Given the description of an element on the screen output the (x, y) to click on. 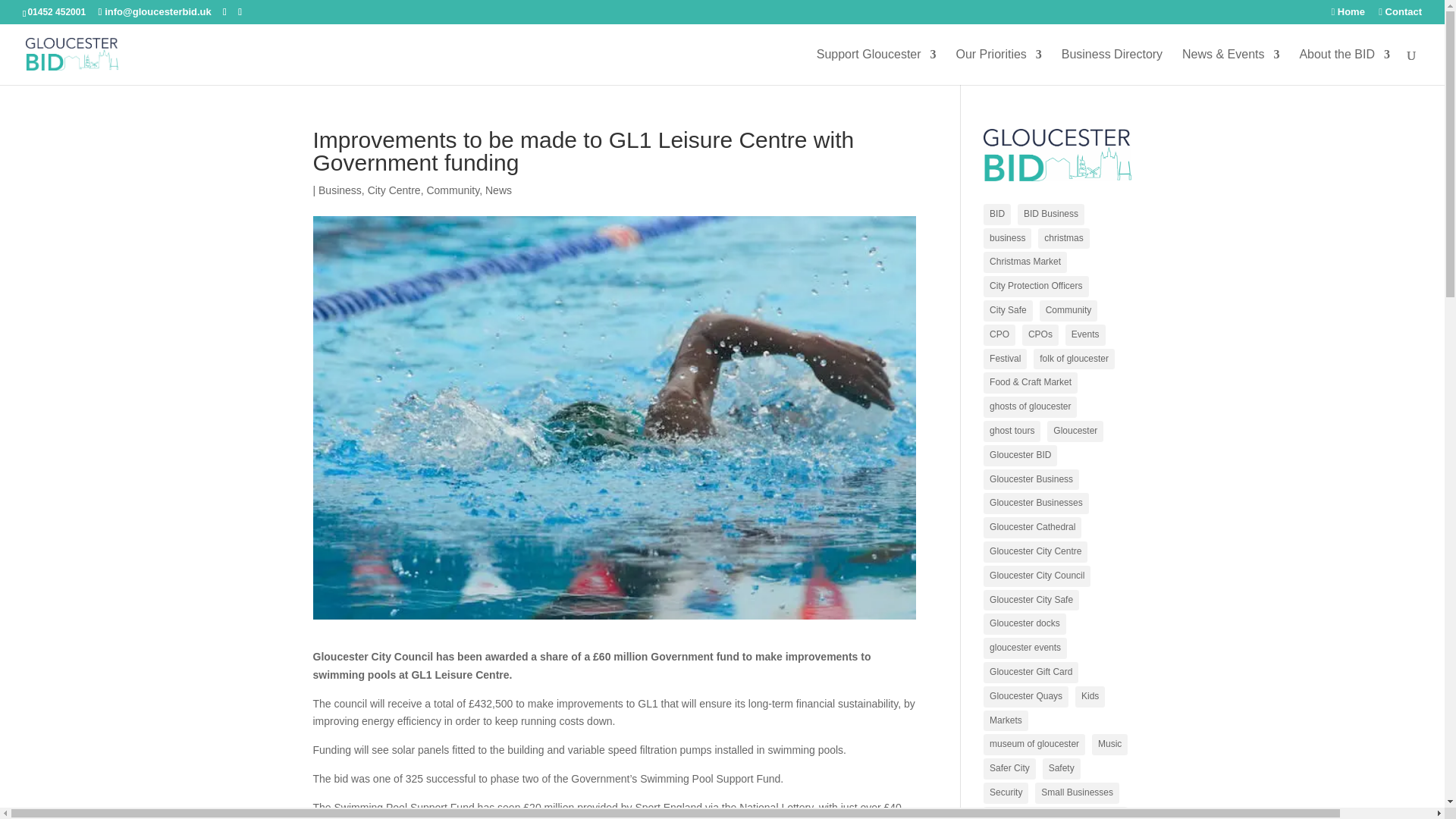
Our Priorities (998, 67)
Business Directory (1111, 67)
Contact (1400, 15)
Home (1347, 15)
Support Gloucester (876, 67)
